Given the description of an element on the screen output the (x, y) to click on. 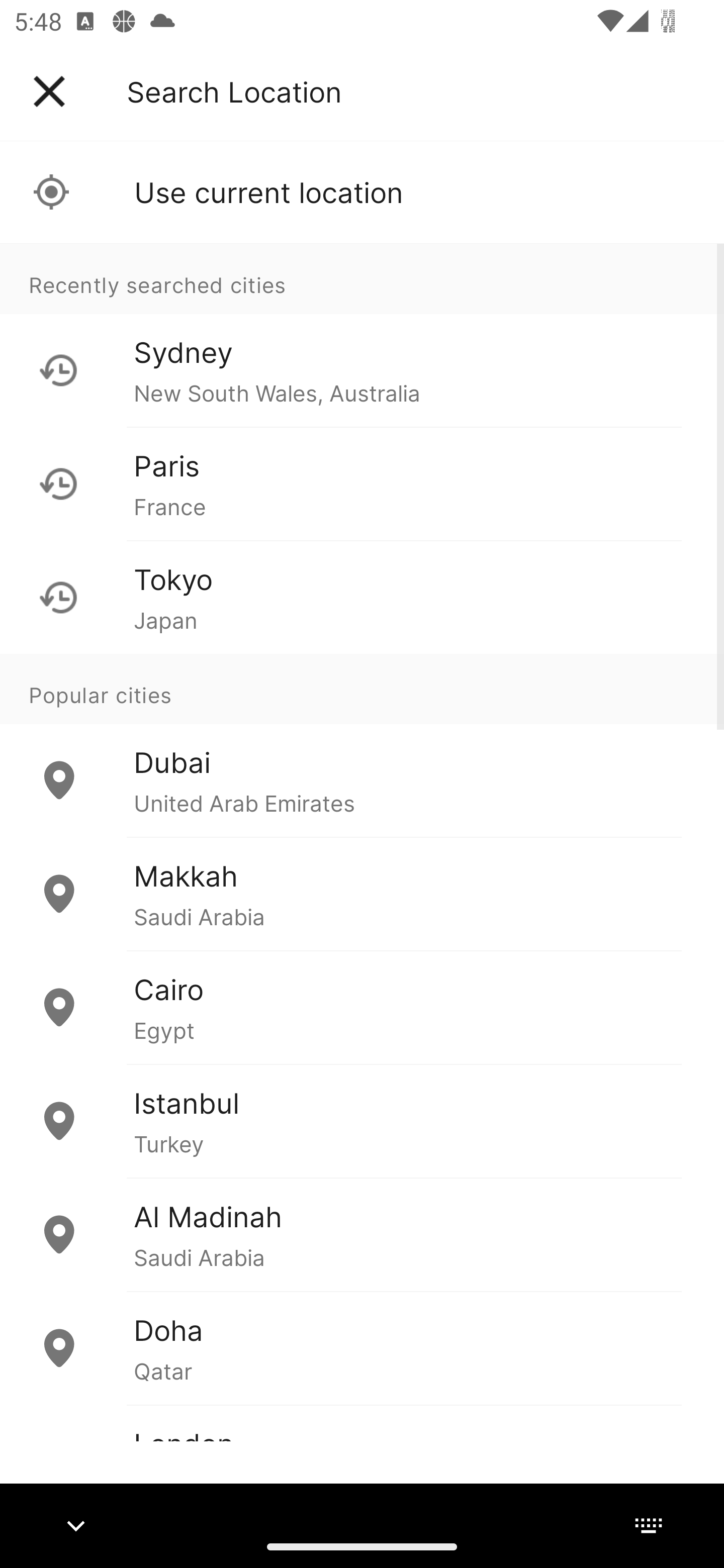
Search Location (234, 91)
Use current location (362, 192)
Recently searched cities (362, 278)
Paris France (362, 483)
Tokyo Japan (362, 596)
Popular cities Dubai United Arab Emirates (362, 745)
Popular cities (362, 688)
Makkah Saudi Arabia (362, 893)
Cairo Egypt (362, 1007)
Istanbul Turkey (362, 1120)
Al Madinah Saudi Arabia (362, 1233)
Doha Qatar (362, 1347)
